Given the description of an element on the screen output the (x, y) to click on. 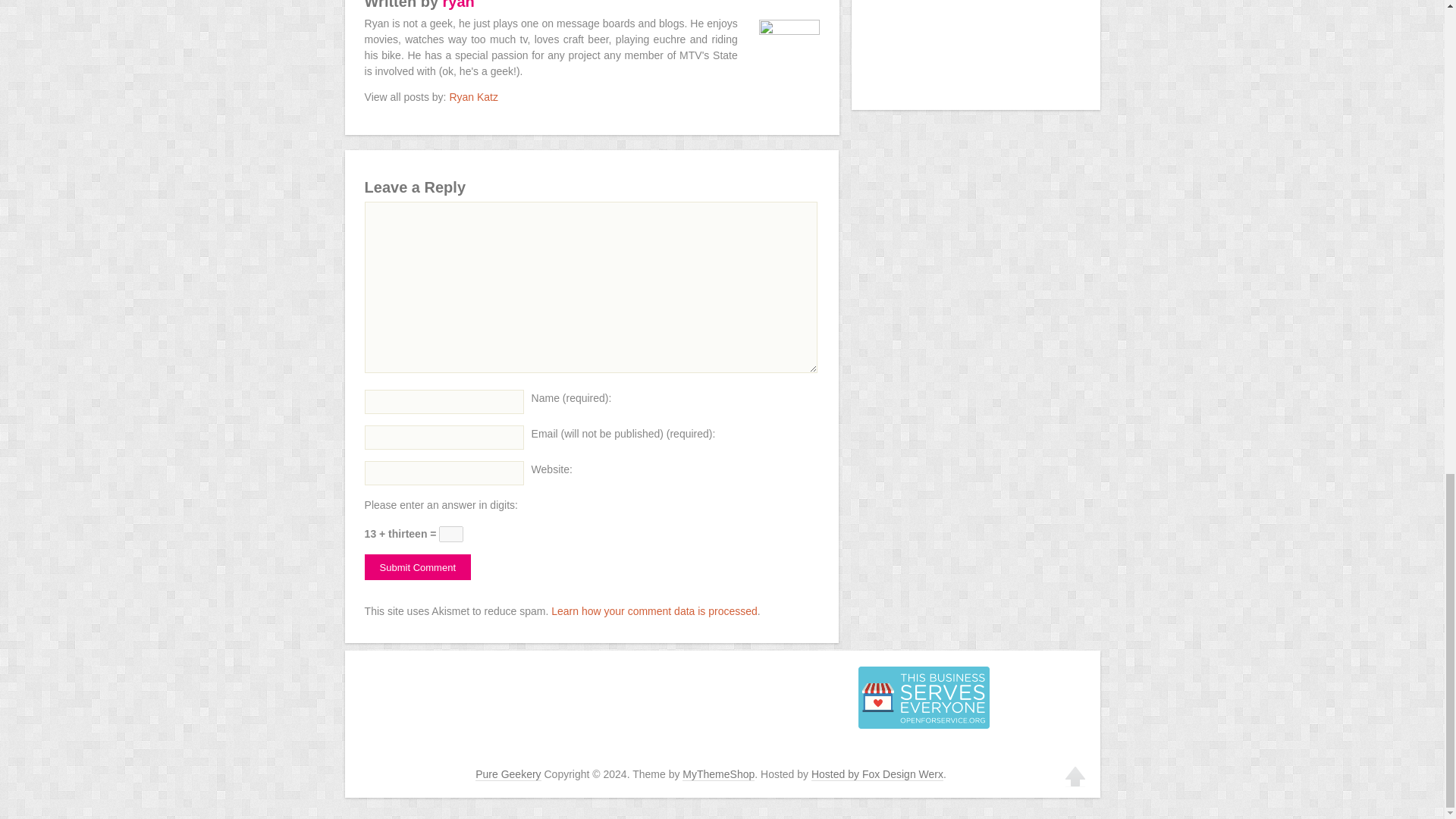
Submit Comment (417, 566)
Geek Culture. Derby Attitude. (508, 774)
Posts by Ryan Katz (472, 96)
Advertisement (975, 45)
